Given the description of an element on the screen output the (x, y) to click on. 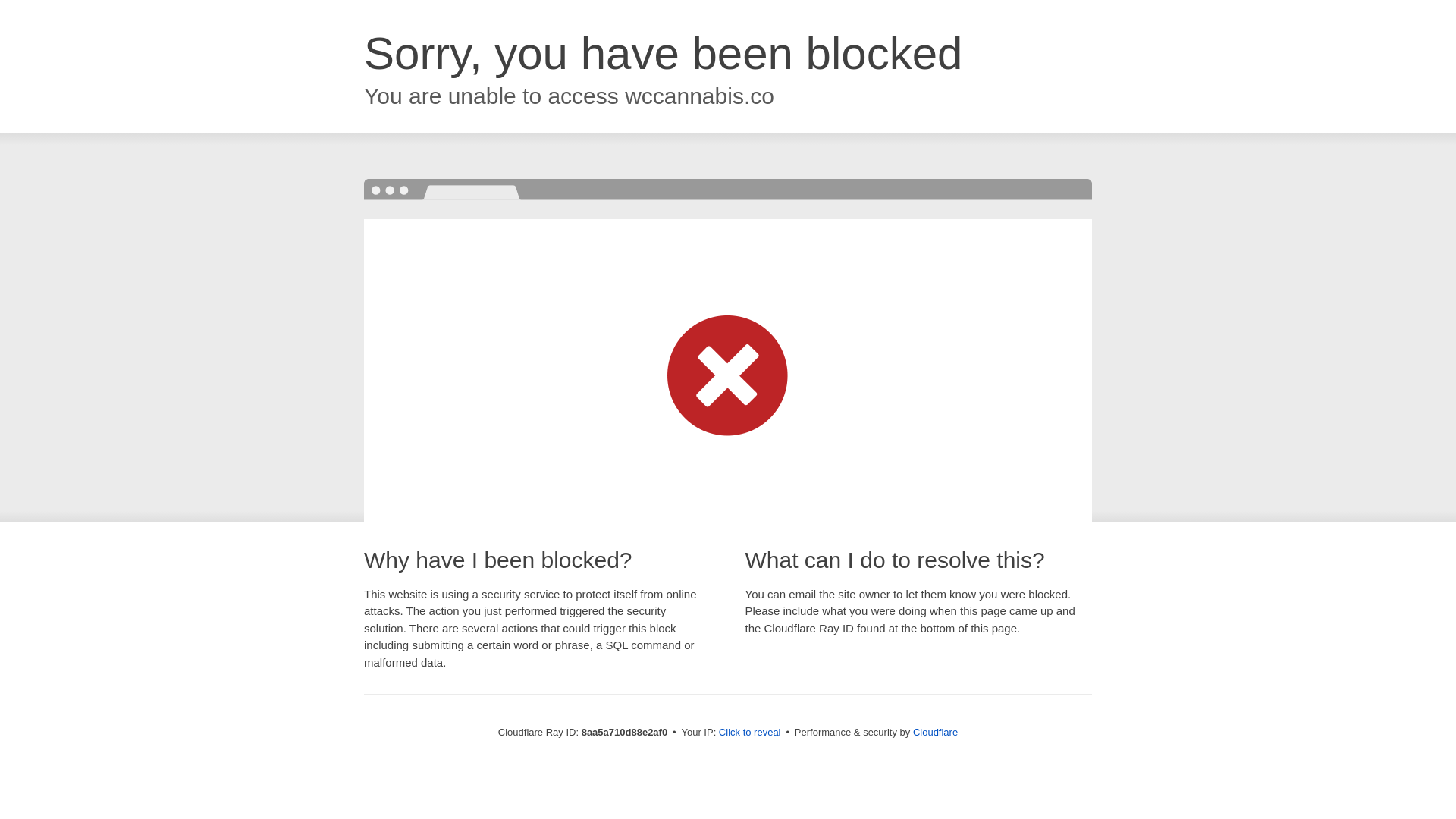
Click to reveal (749, 732)
Cloudflare (935, 731)
